Given the description of an element on the screen output the (x, y) to click on. 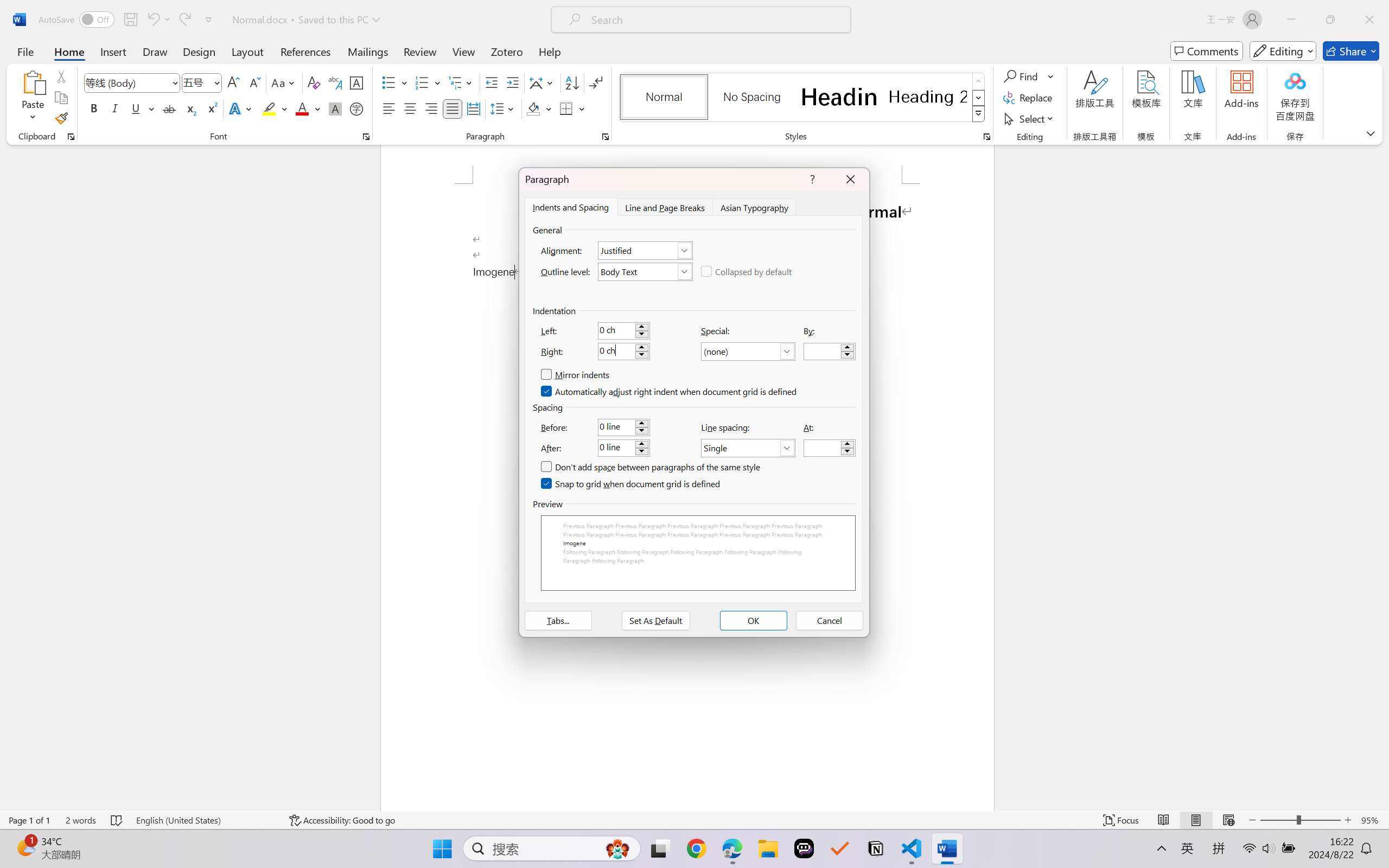
Notion (875, 848)
Line spacing: (748, 448)
Right: (623, 351)
Paragraph... (605, 136)
Center (409, 108)
Text Highlight Color (274, 108)
